Given the description of an element on the screen output the (x, y) to click on. 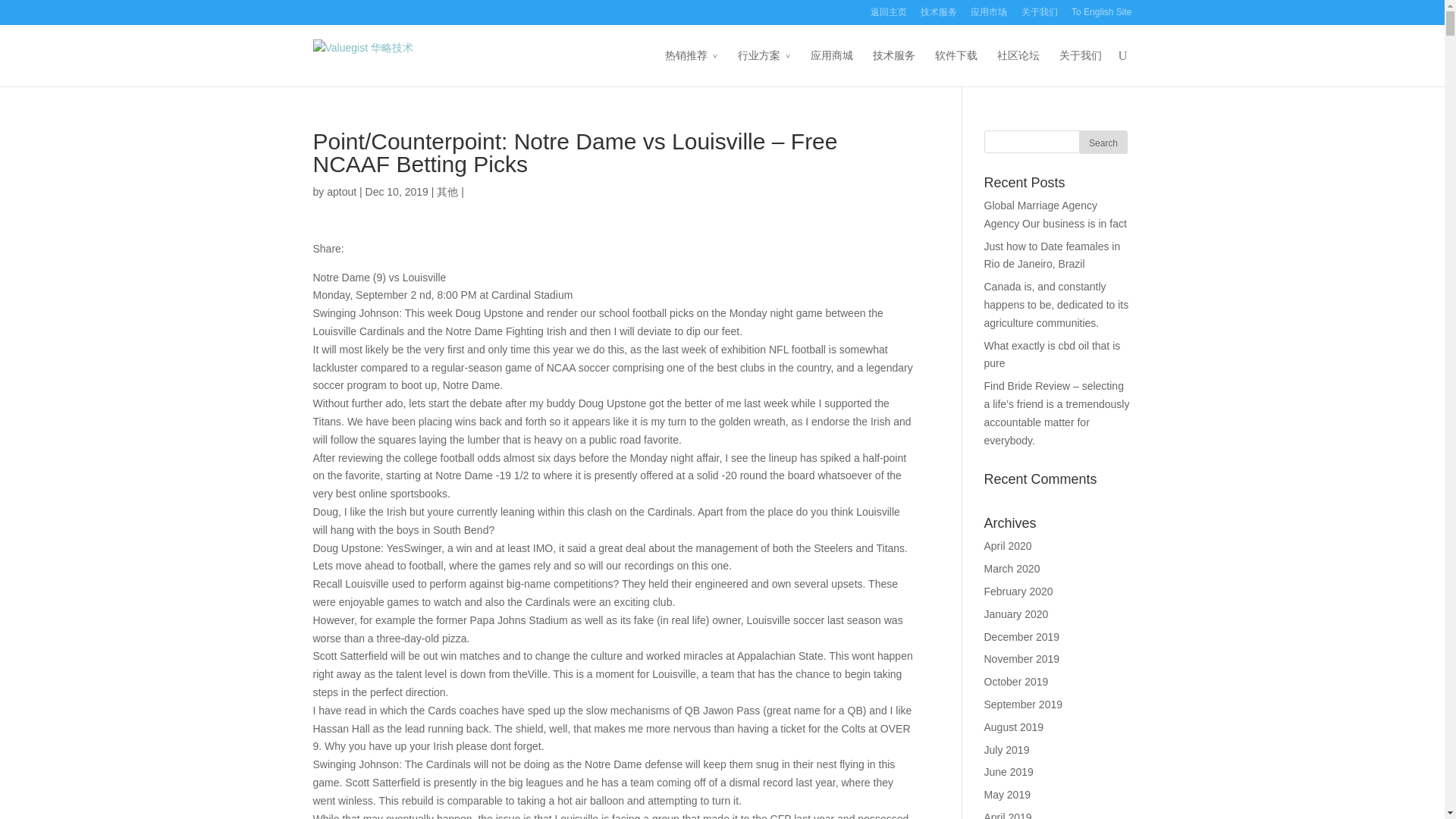
Search (1103, 141)
Global Marriage Agency Agency Our business is in fact (1055, 214)
Posts by aptout (341, 191)
Just how to Date feamales in Rio de Janeiro, Brazil (1052, 255)
To English Site (1101, 16)
Search (1103, 141)
aptout (341, 191)
